Given the description of an element on the screen output the (x, y) to click on. 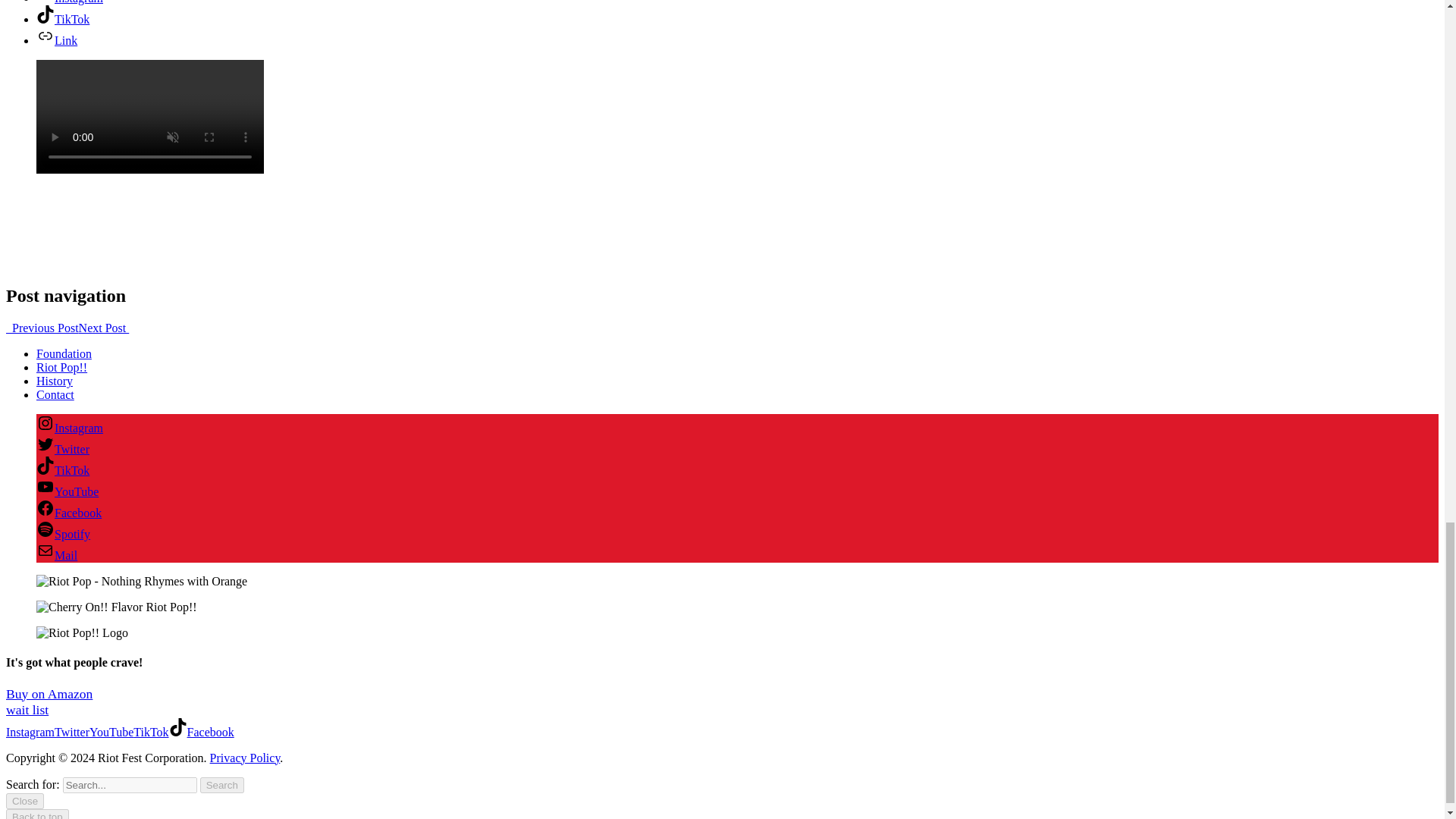
Link (56, 40)
Instagram (69, 427)
History (54, 380)
Foundation (63, 353)
Twitter (62, 449)
TikTok (62, 19)
Instagram (69, 2)
  Previous Post (41, 327)
Next Post  (103, 327)
Contact (55, 394)
